Given the description of an element on the screen output the (x, y) to click on. 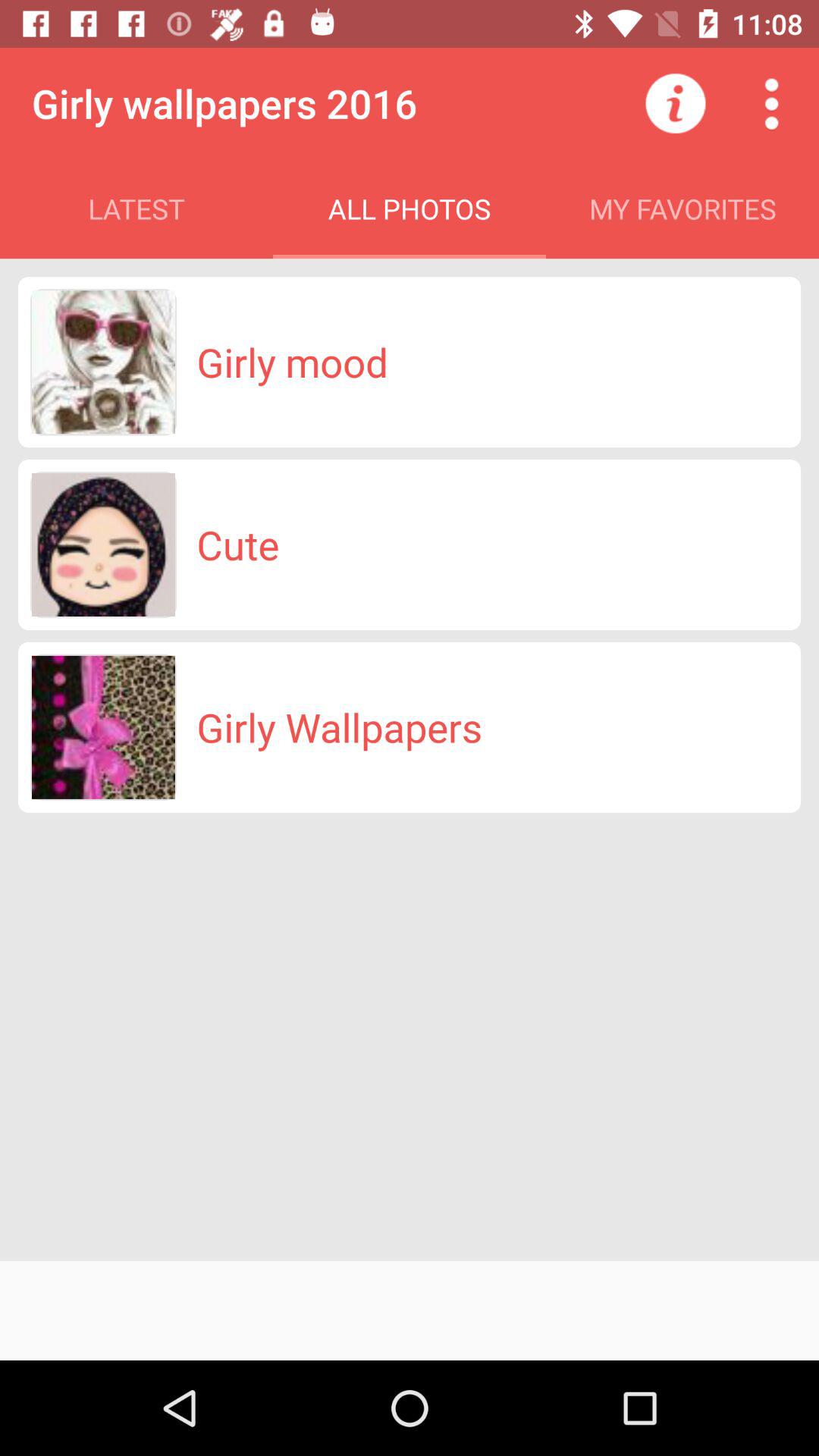
select the item above the cute (291, 361)
